Given the description of an element on the screen output the (x, y) to click on. 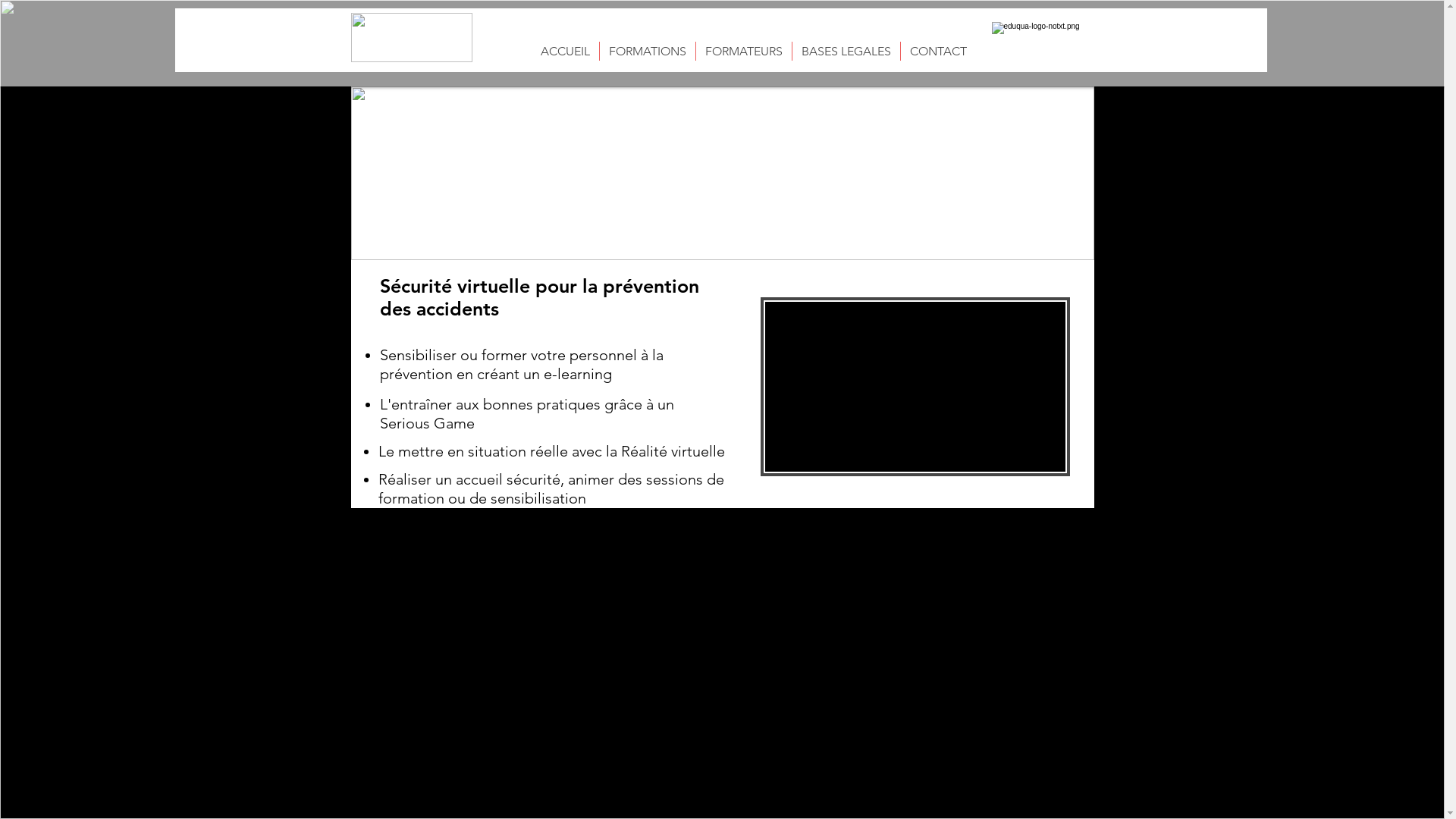
CONTACT Element type: text (937, 50)
ACCUEIL Element type: text (564, 50)
FORMATIONS Element type: text (646, 50)
FORMATEURS Element type: text (743, 50)
BASES LEGALES Element type: text (845, 50)
